Given the description of an element on the screen output the (x, y) to click on. 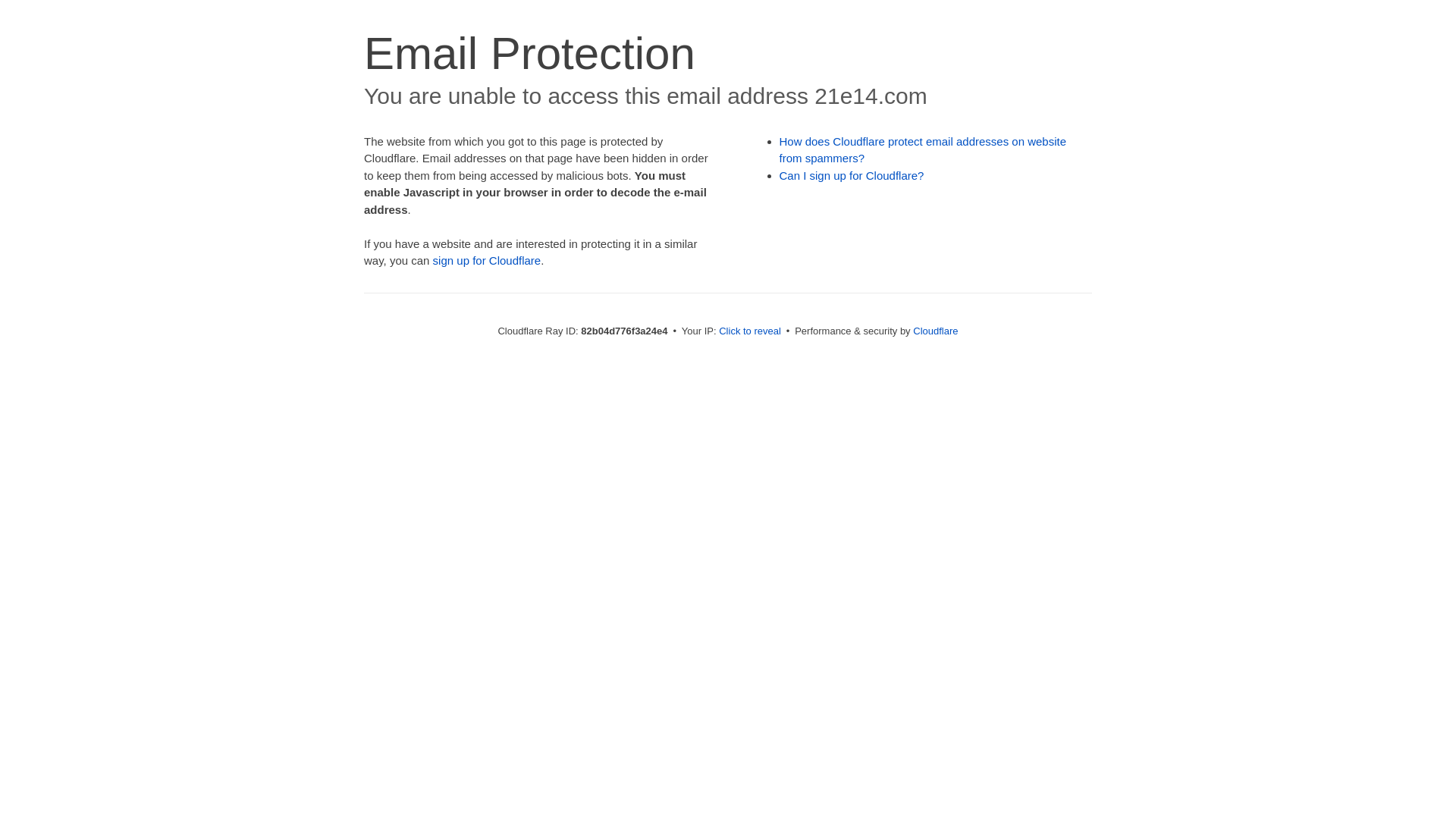
sign up for Cloudflare Element type: text (487, 260)
Cloudflare Element type: text (935, 330)
Can I sign up for Cloudflare? Element type: text (851, 175)
Click to reveal Element type: text (749, 330)
